Given the description of an element on the screen output the (x, y) to click on. 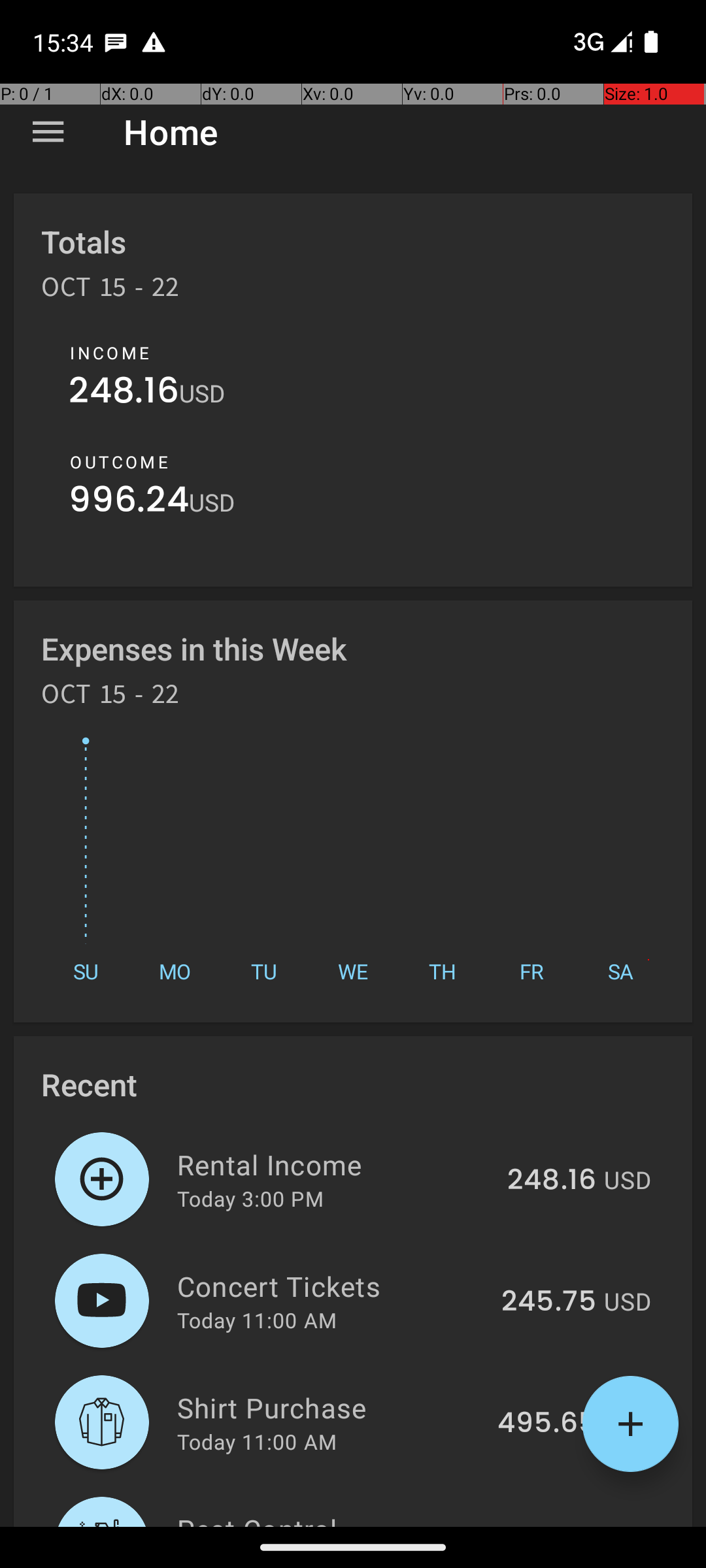
248.16 Element type: android.widget.TextView (123, 393)
996.24 Element type: android.widget.TextView (128, 502)
Rental Income Element type: android.widget.TextView (334, 1164)
Today 3:00 PM Element type: android.widget.TextView (250, 1198)
Concert Tickets Element type: android.widget.TextView (331, 1285)
Today 11:00 AM Element type: android.widget.TextView (256, 1320)
245.75 Element type: android.widget.TextView (548, 1301)
Shirt Purchase Element type: android.widget.TextView (329, 1407)
495.65 Element type: android.widget.TextView (546, 1423)
Pest Control Element type: android.widget.TextView (338, 1518)
125.01 Element type: android.widget.TextView (555, 1524)
